Given the description of an element on the screen output the (x, y) to click on. 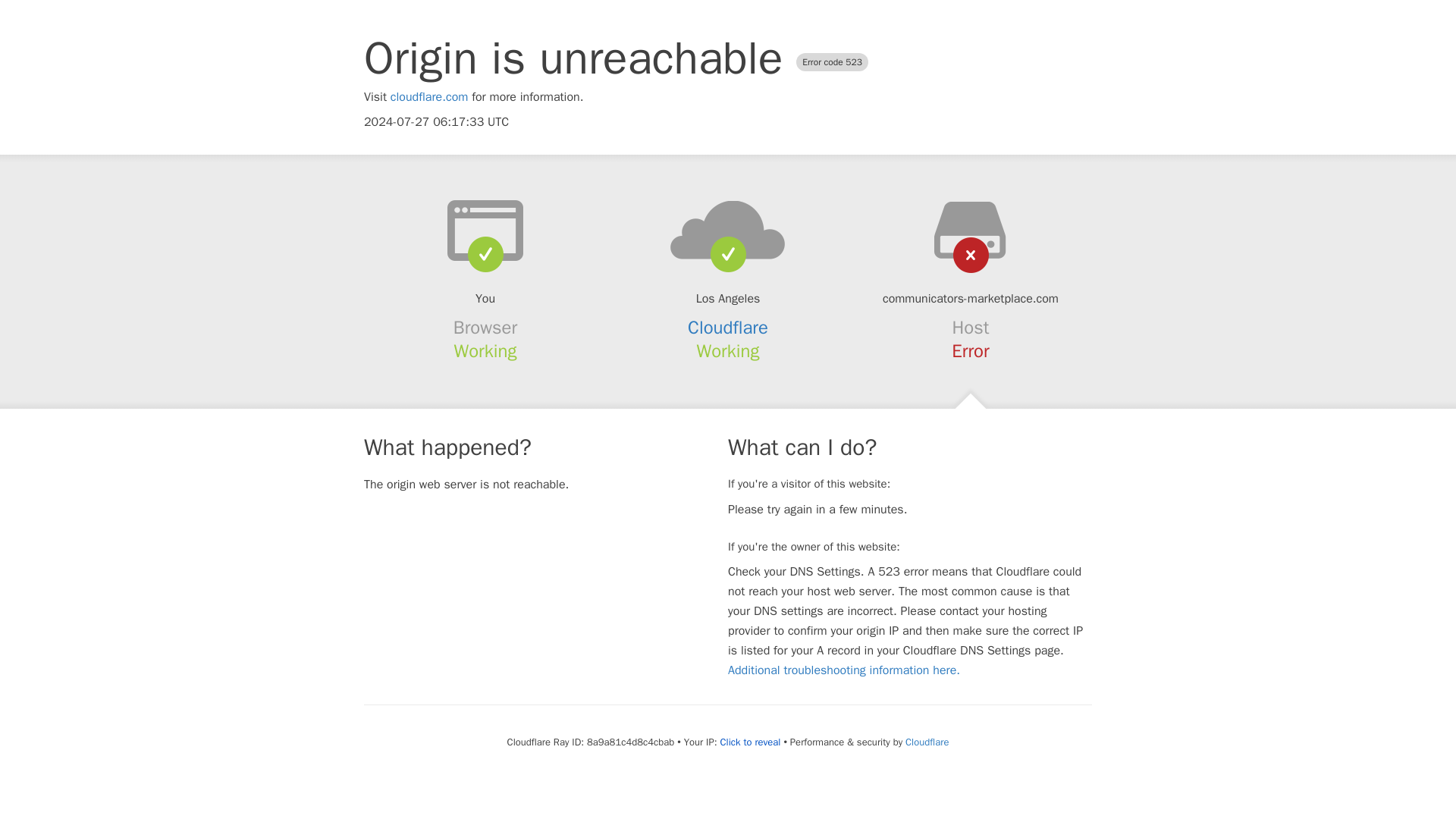
Cloudflare (727, 327)
cloudflare.com (429, 96)
Additional troubleshooting information here. (843, 670)
Cloudflare (927, 741)
Click to reveal (750, 742)
